Given the description of an element on the screen output the (x, y) to click on. 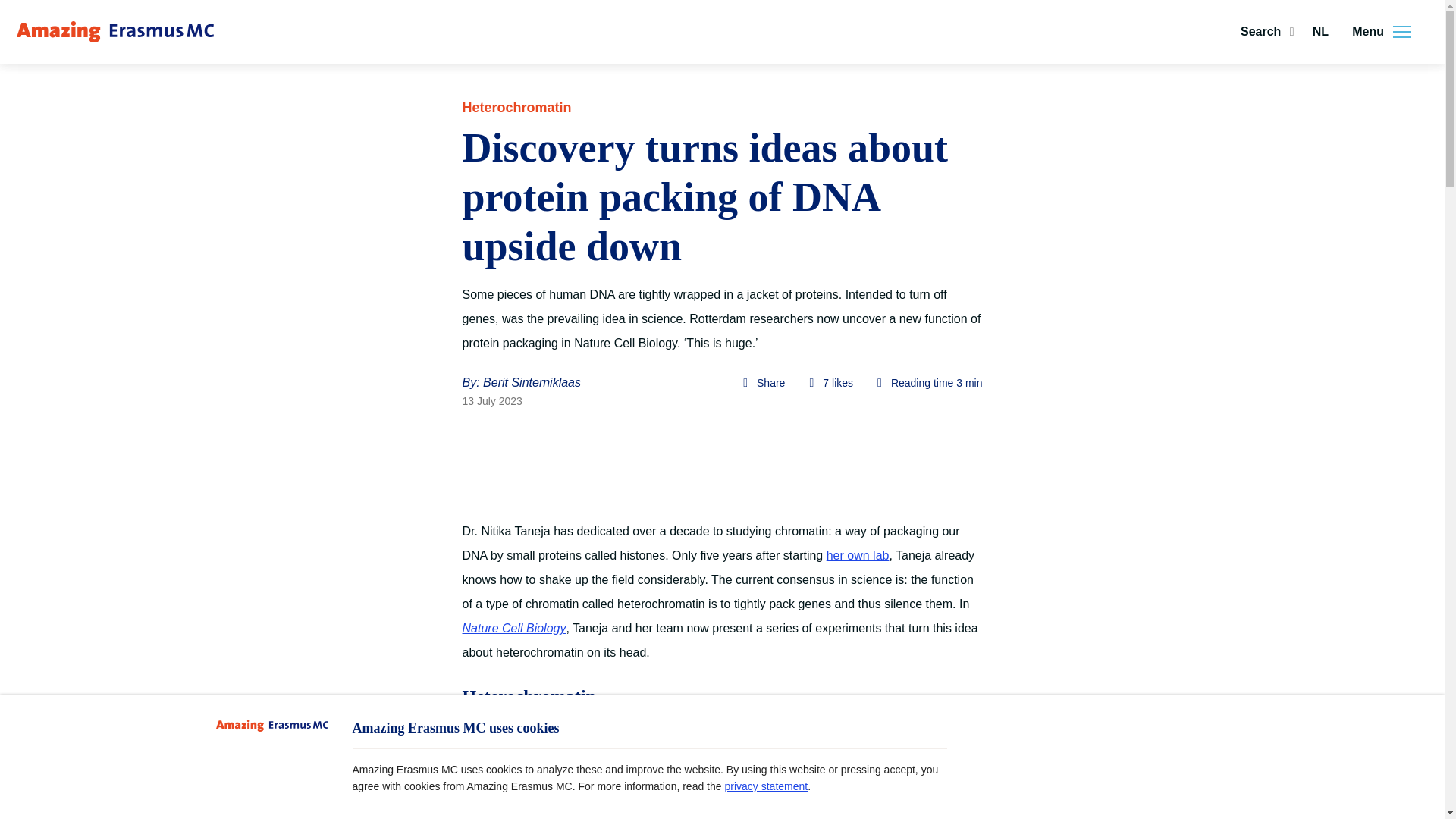
Menu (1386, 31)
NL (1320, 31)
Search the site (1267, 31)
her own lab (858, 554)
Back to homepage. (115, 31)
Nature Cell Biology (514, 627)
Share (763, 382)
Show the menu (1386, 31)
Search (1267, 31)
Berit Sinterniklaas (531, 382)
